Given the description of an element on the screen output the (x, y) to click on. 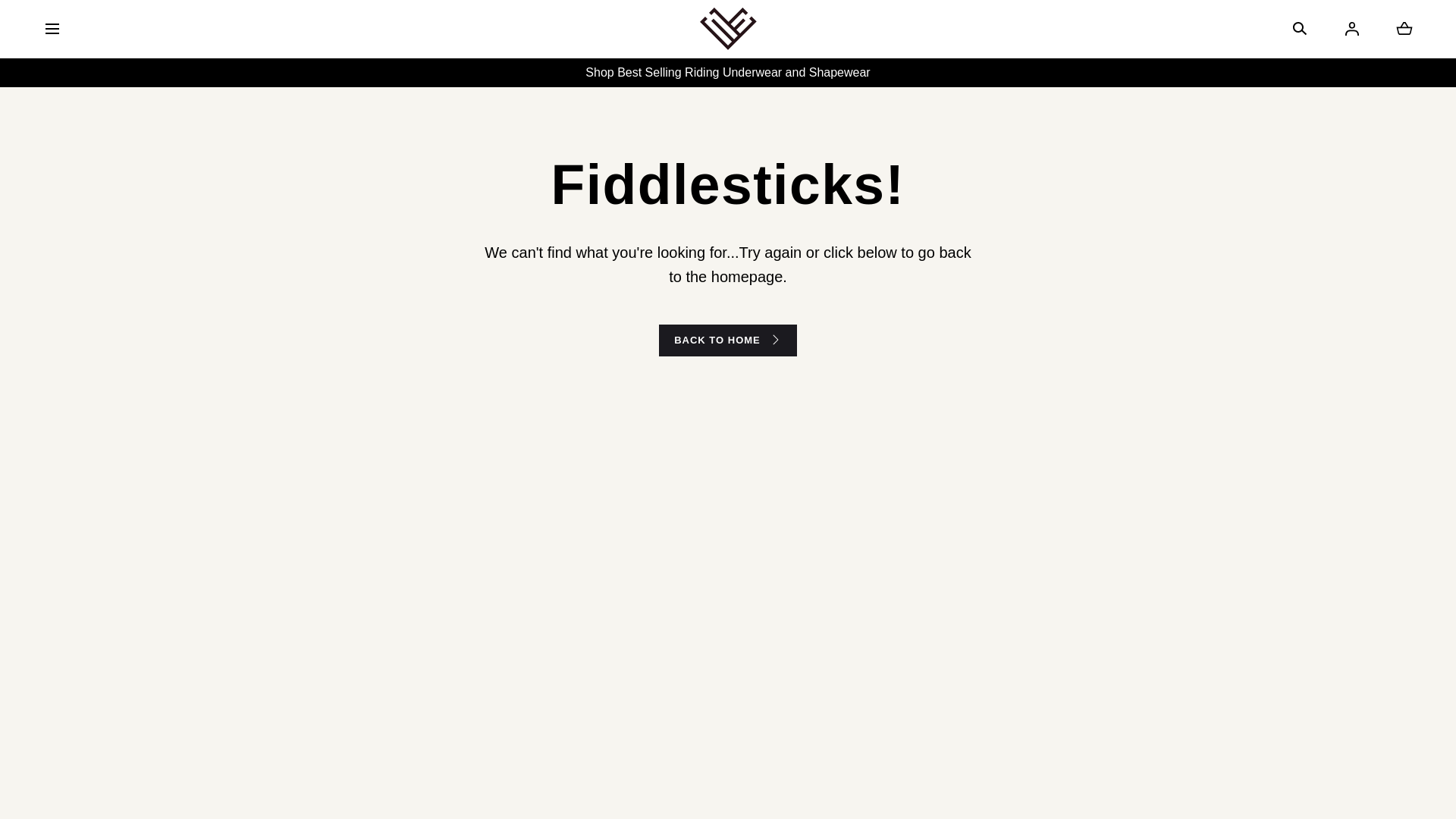
Wonder Equestrian (727, 28)
Log in (1351, 28)
BACK TO HOME (727, 340)
SKIP TO CONTENT (80, 18)
